Given the description of an element on the screen output the (x, y) to click on. 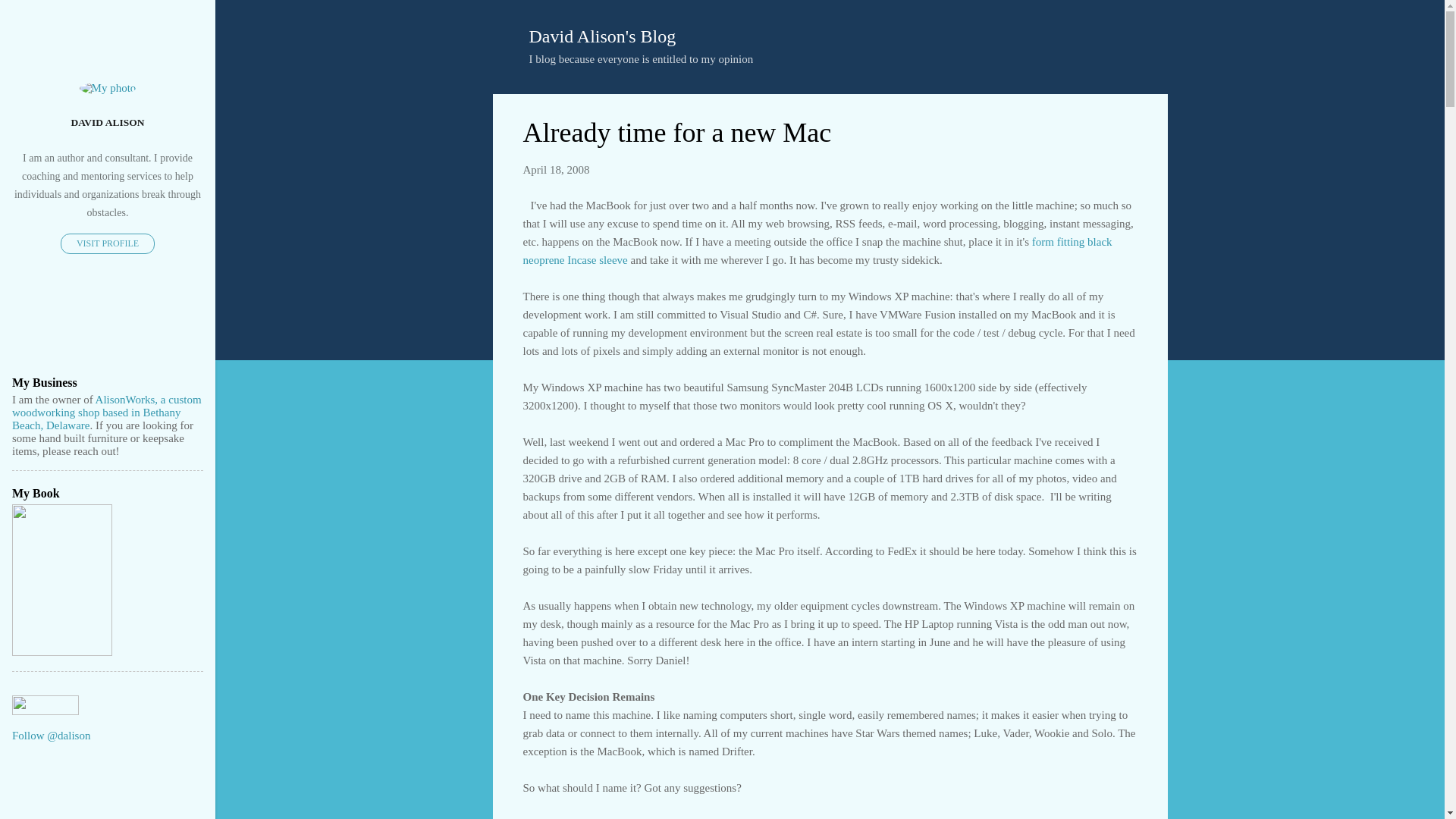
Search (29, 18)
permanent link (555, 169)
David Alison's Blog (603, 35)
April 18, 2008 (555, 169)
form fitting black neoprene Incase sleeve (817, 250)
